Given the description of an element on the screen output the (x, y) to click on. 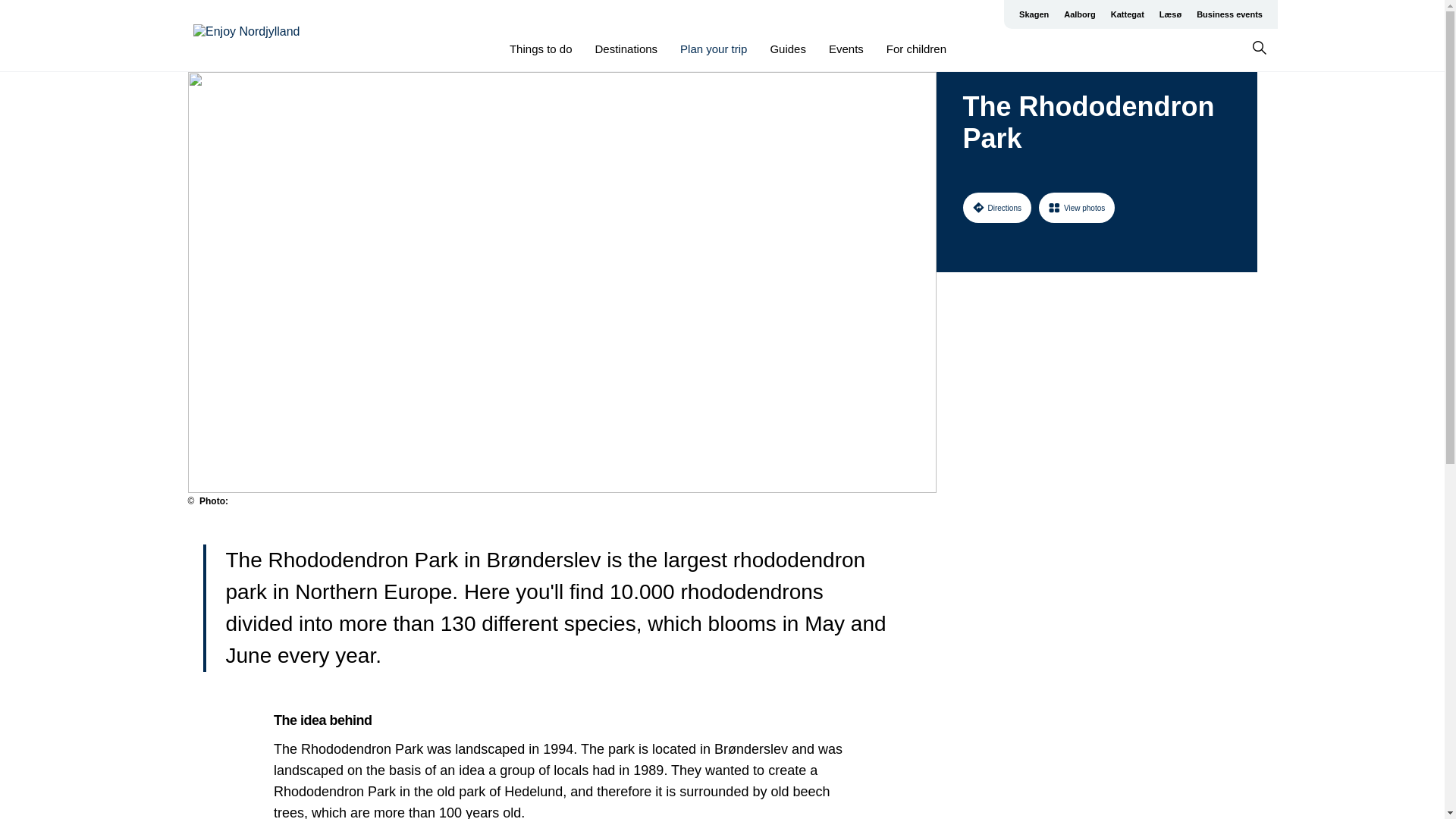
Guides (788, 48)
Plan your trip (712, 48)
Destinations (626, 48)
Go to homepage (253, 35)
Directions (996, 207)
Things to do (540, 48)
Skagen (1034, 14)
Kattegat (1127, 14)
View photos (1077, 207)
For children (916, 48)
Aalborg (1080, 14)
Business events (1229, 14)
Events (845, 48)
